Given the description of an element on the screen output the (x, y) to click on. 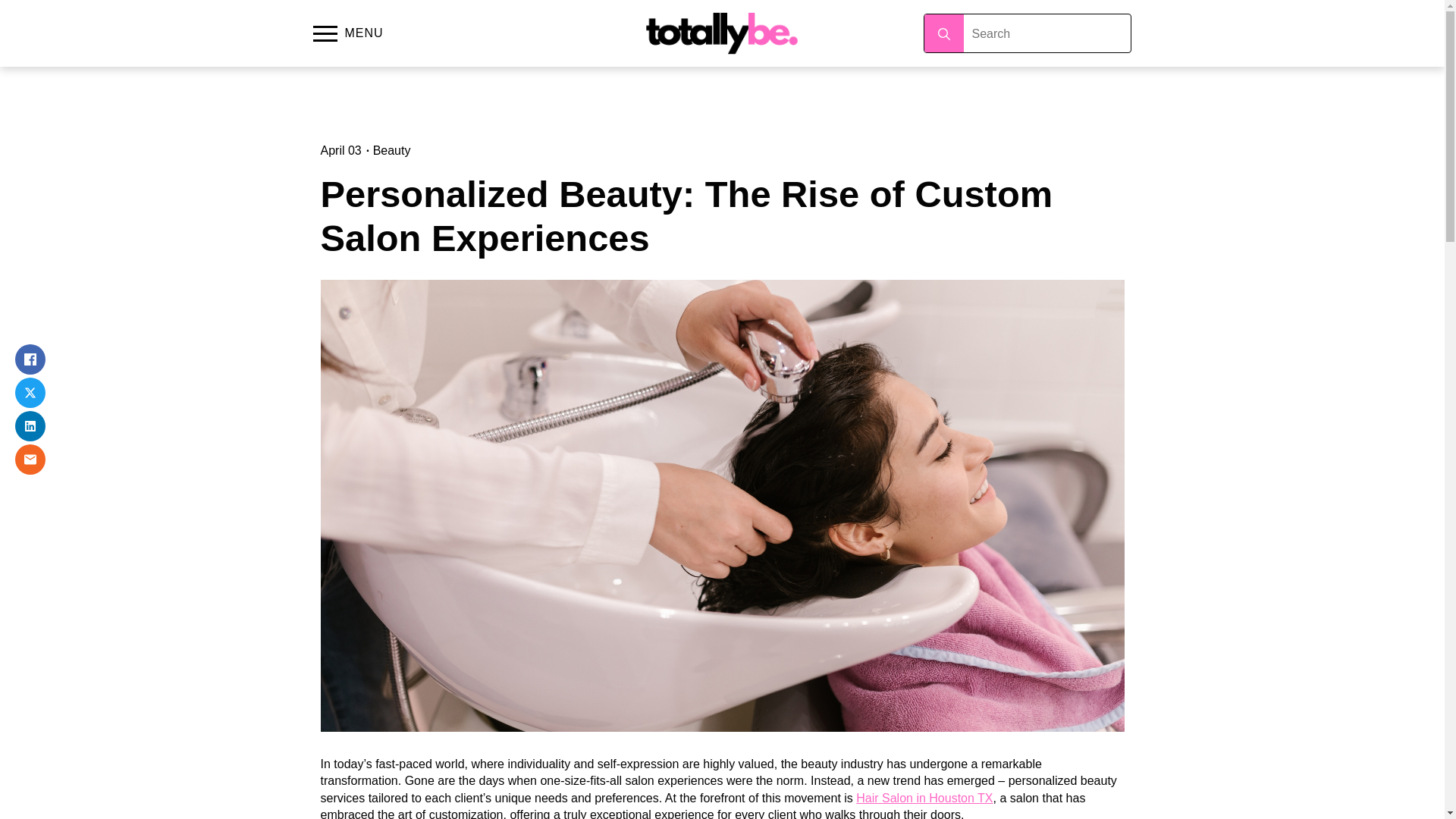
Hair Salon in Houston TX (924, 797)
Beauty (391, 150)
